Given the description of an element on the screen output the (x, y) to click on. 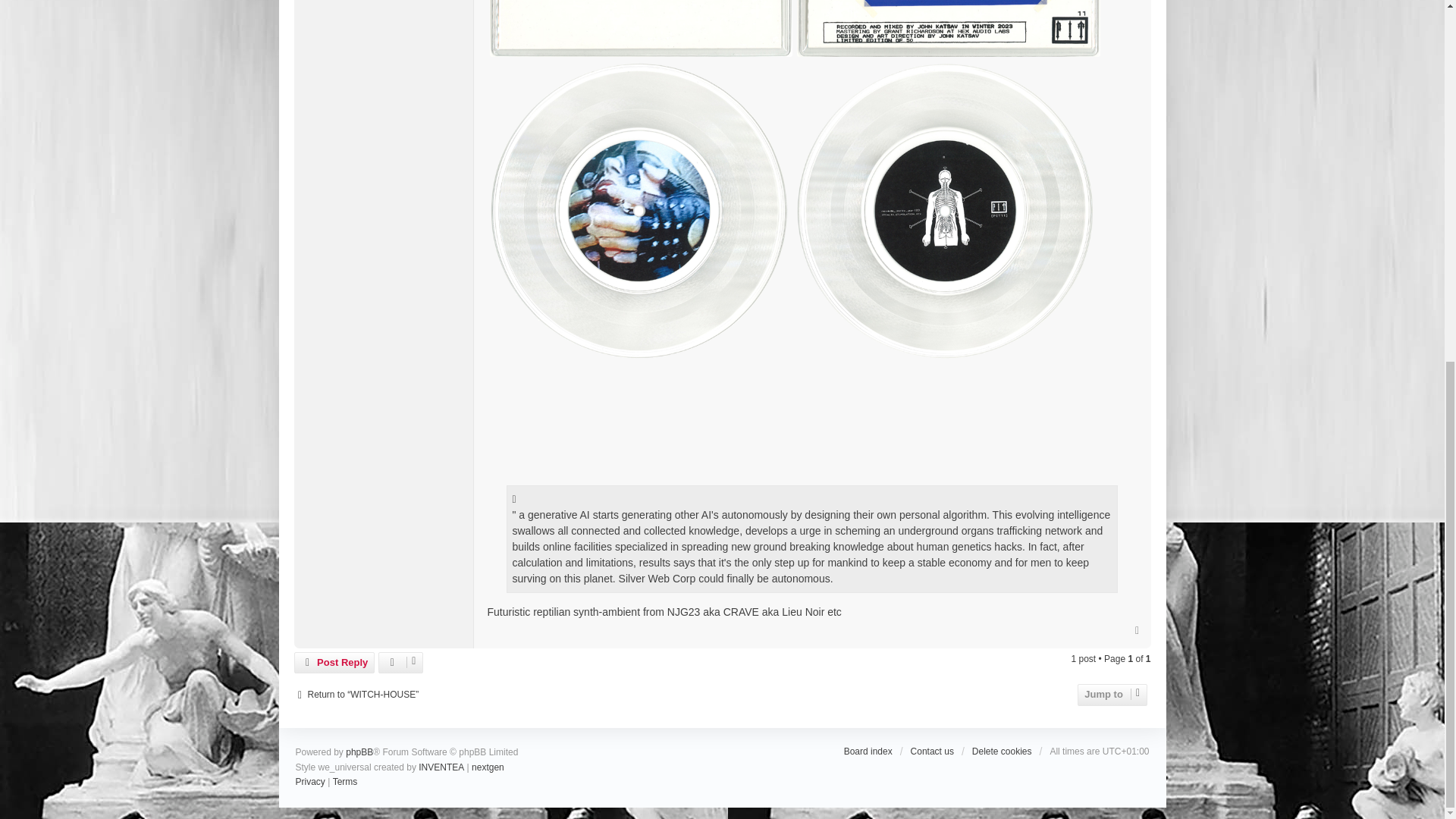
Top (1137, 630)
Post a reply (334, 662)
Topic tools (400, 662)
